Given the description of an element on the screen output the (x, y) to click on. 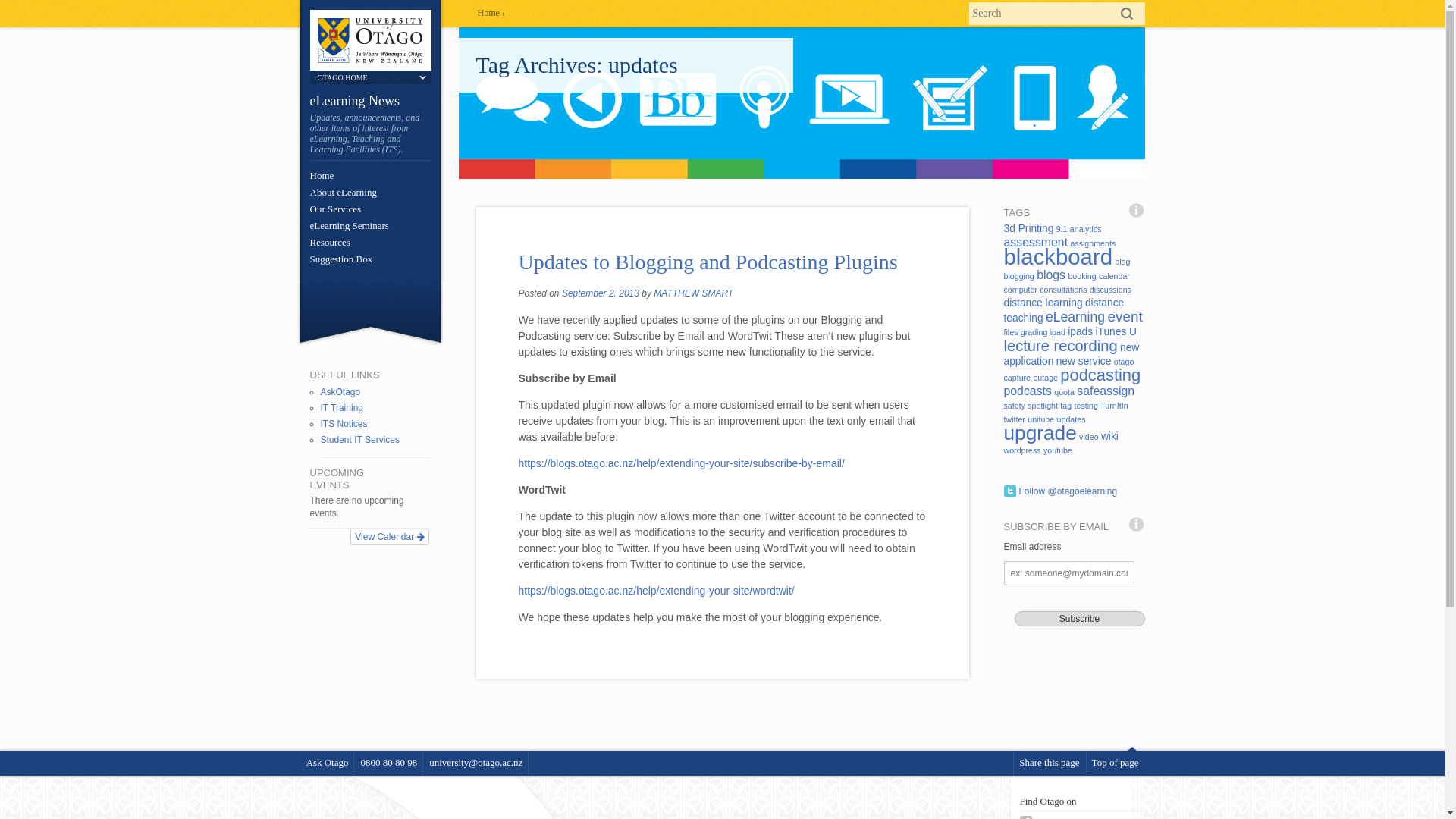
About eLearning (341, 192)
Home (488, 12)
AskOtago (339, 391)
4:15 pm (600, 293)
Subscribe (1079, 618)
Suggestion Box (340, 258)
Permalink to Updates to Blogging and Podcasting Plugins (708, 261)
Subscribe by Email (681, 463)
Home (320, 174)
Resources (328, 242)
